Given the description of an element on the screen output the (x, y) to click on. 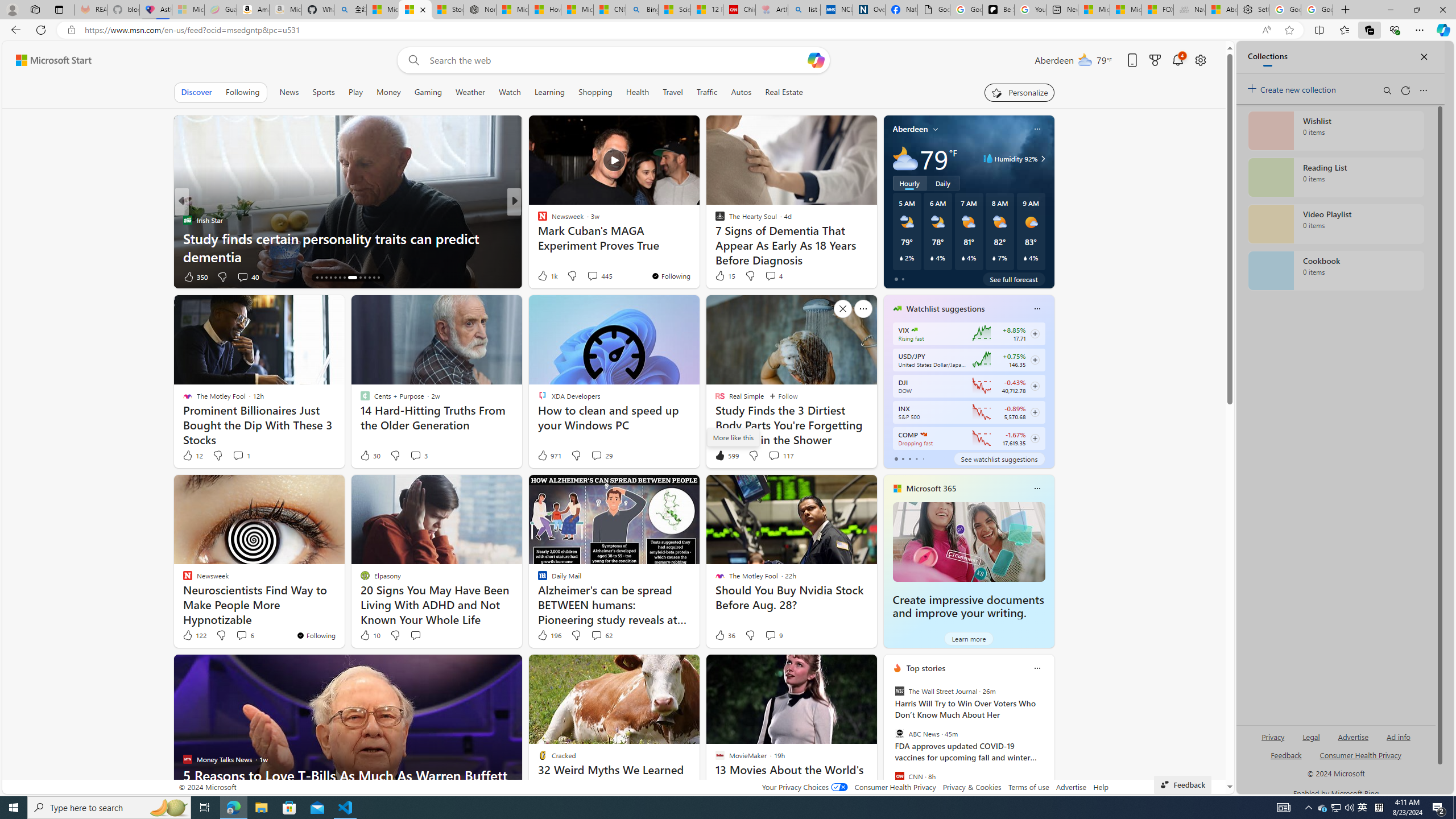
971 Like (548, 455)
View comments 6 Comment (245, 634)
Newsweek (537, 219)
10 Like (368, 634)
tab-4 (923, 458)
next (1047, 741)
